Given the description of an element on the screen output the (x, y) to click on. 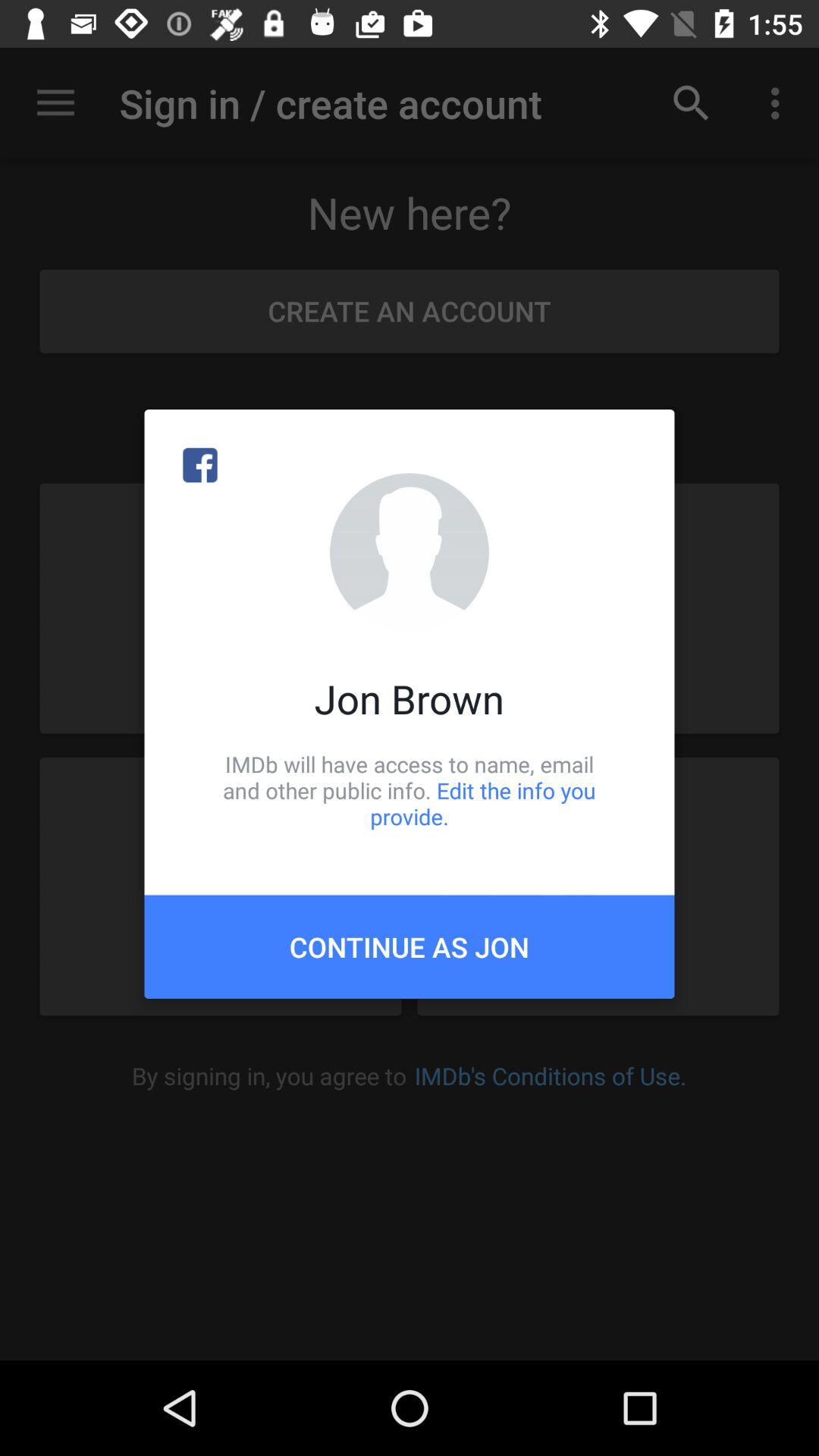
select the continue as jon item (409, 946)
